Given the description of an element on the screen output the (x, y) to click on. 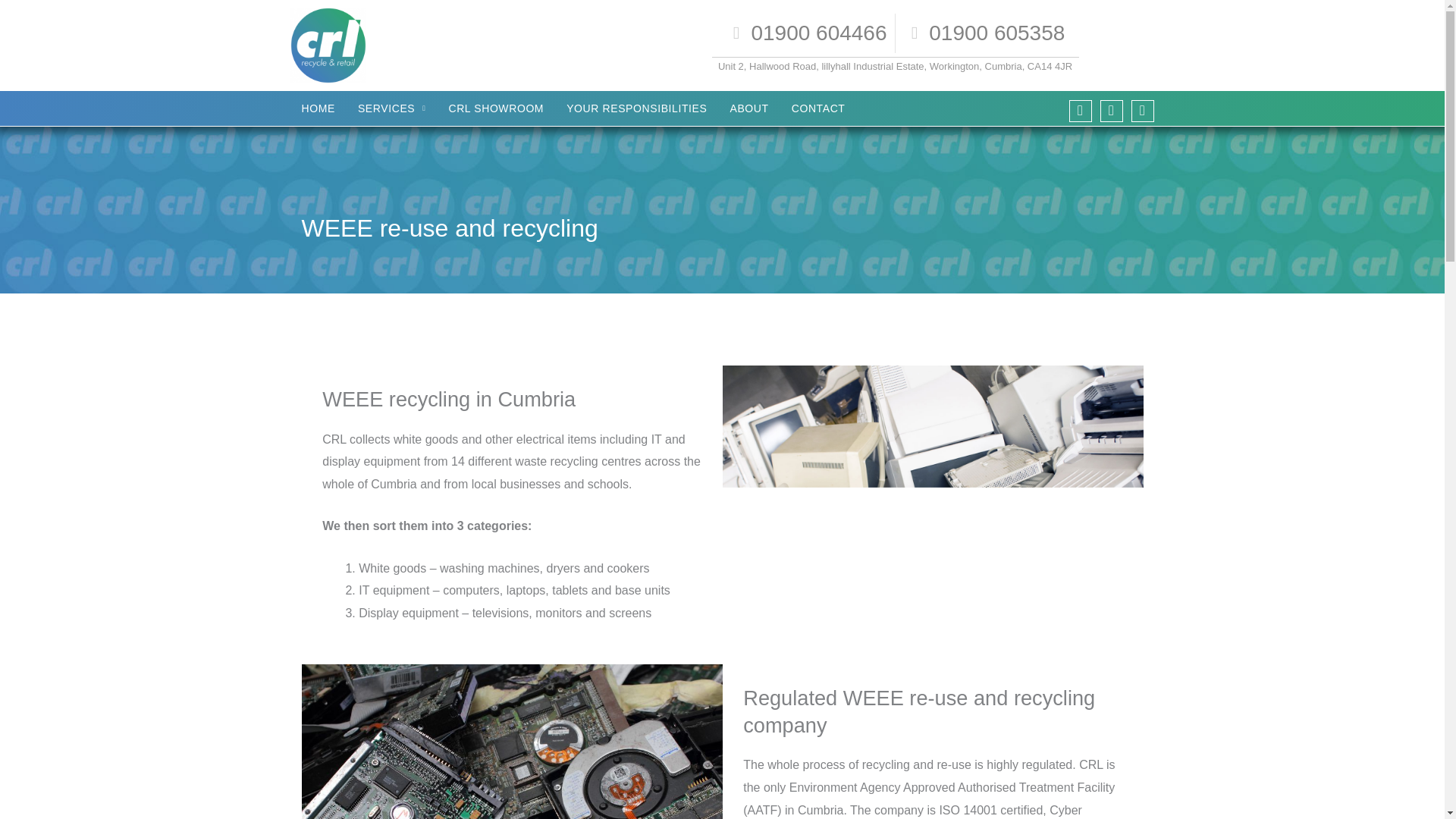
YOUR RESPONSIBILITIES (635, 108)
HOME (317, 108)
01900 604466 (805, 33)
01900 605358 (984, 33)
CRL SHOWROOM (495, 108)
SERVICES (392, 108)
ABOUT (747, 108)
CONTACT (818, 108)
